Given the description of an element on the screen output the (x, y) to click on. 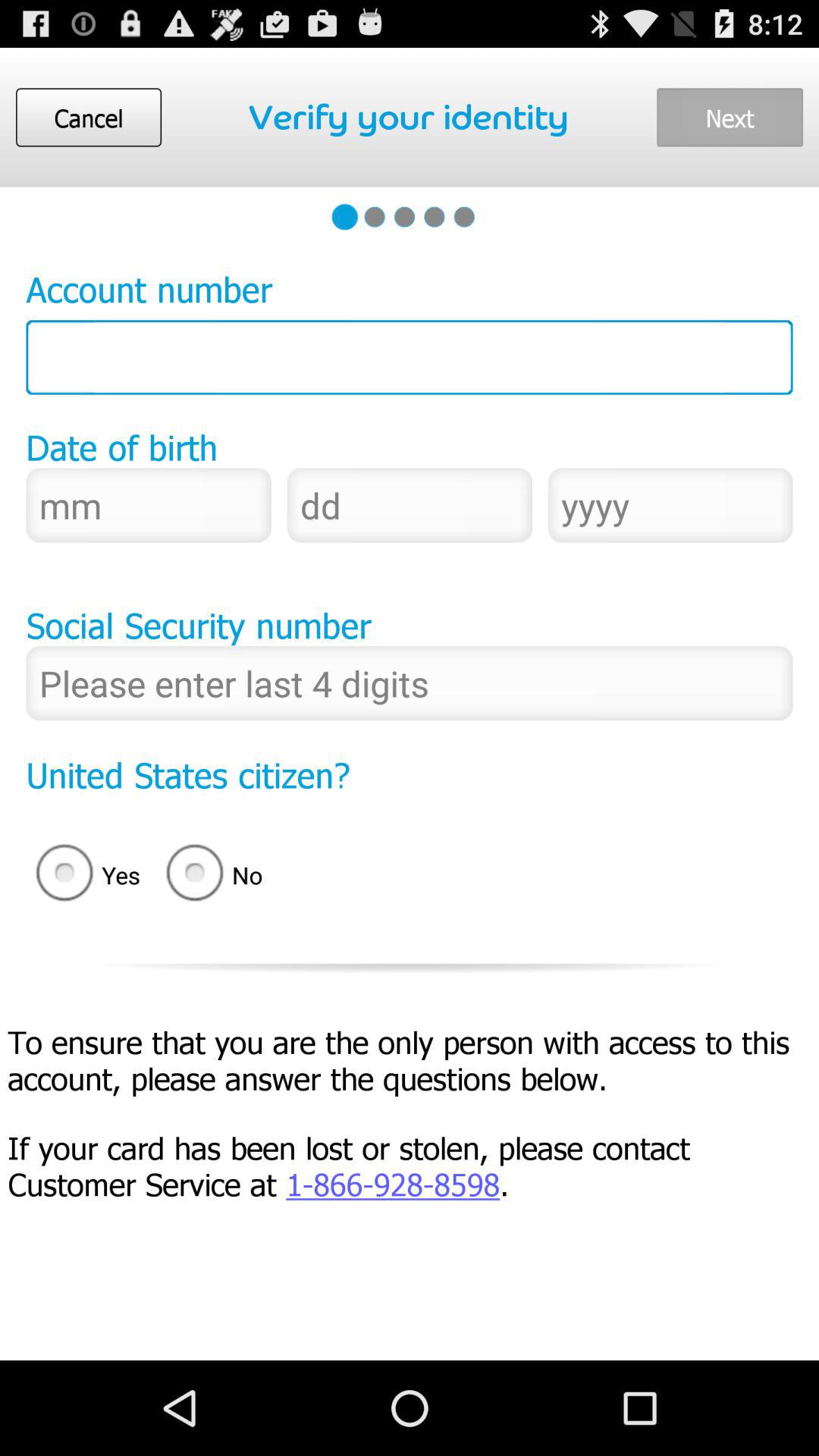
turn off the yes icon (83, 875)
